Given the description of an element on the screen output the (x, y) to click on. 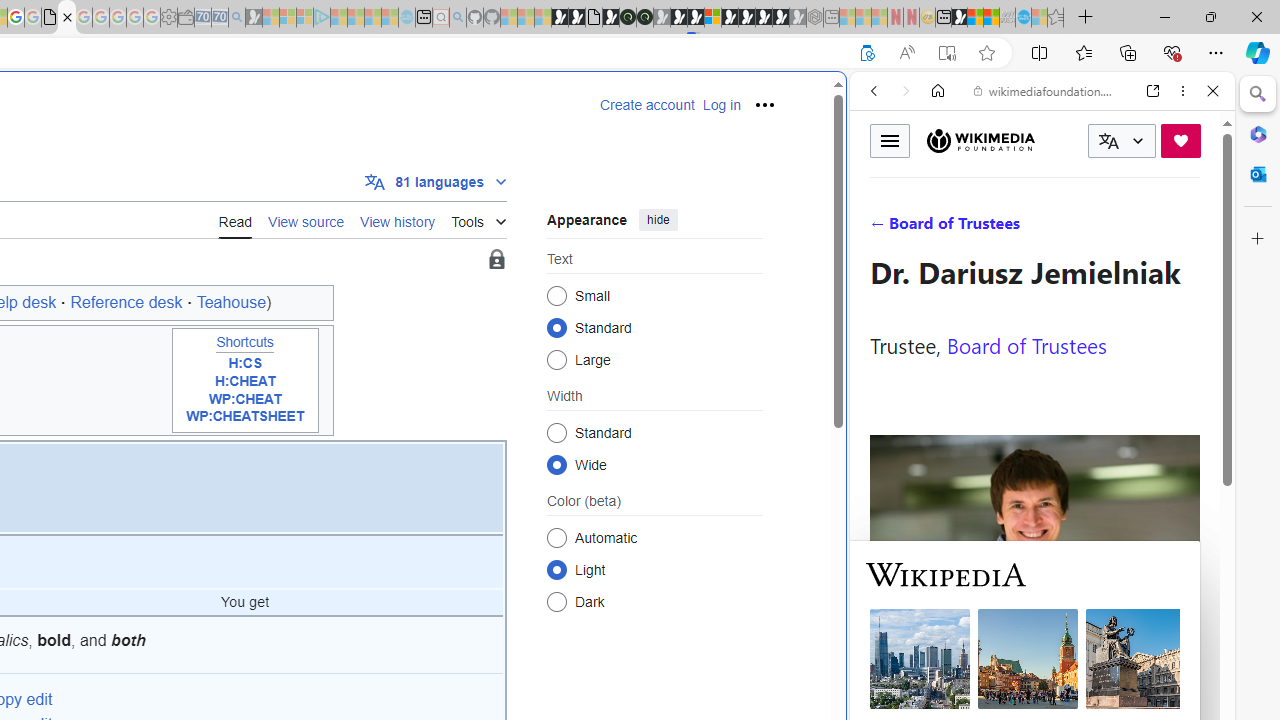
Dark (556, 601)
Wikimedia Foundation (980, 140)
Support Wikipedia? (867, 53)
Wide (556, 464)
